Given the description of an element on the screen output the (x, y) to click on. 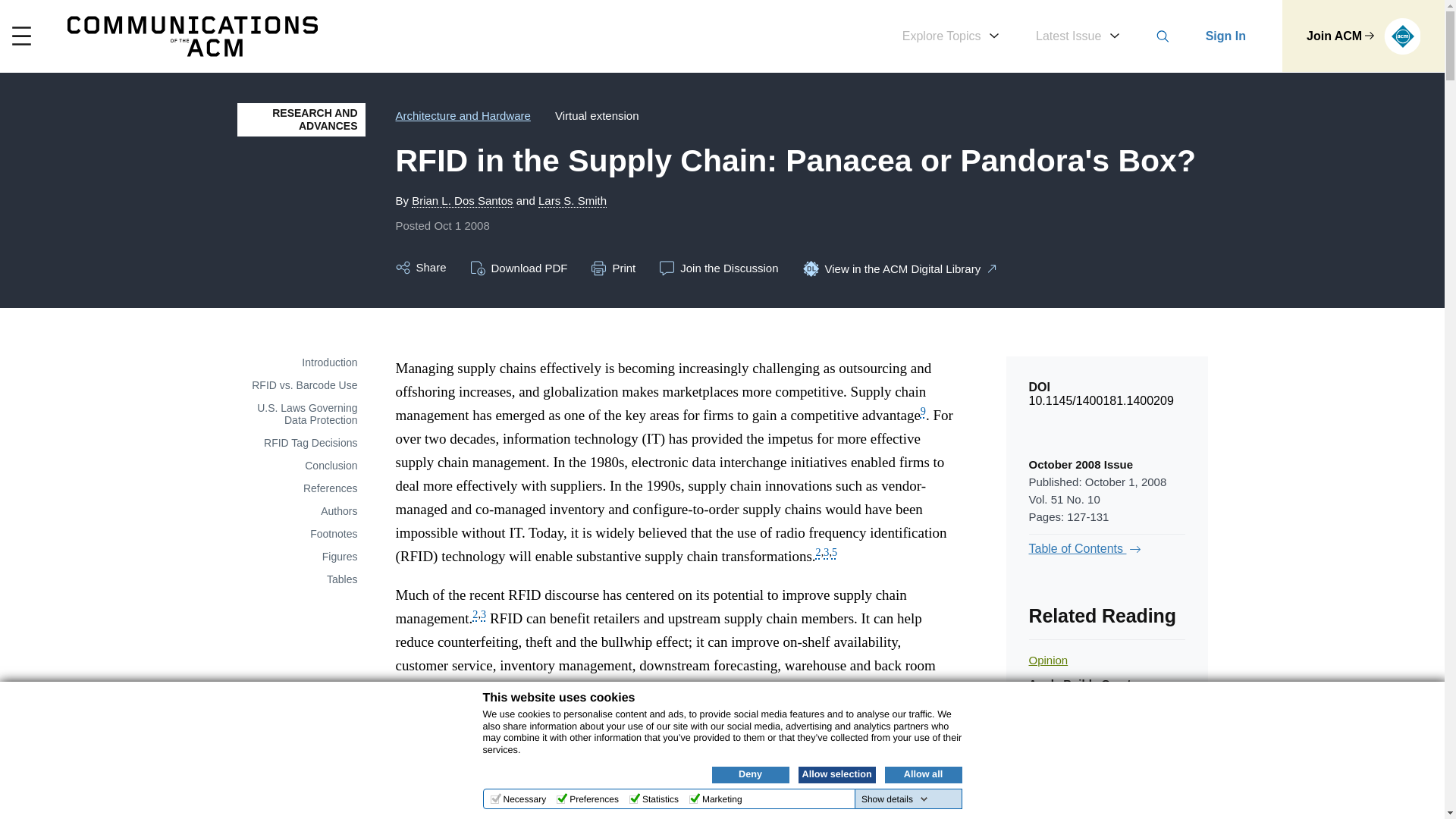
Allow all (921, 774)
Deny (750, 774)
Allow selection (836, 774)
Show details (895, 799)
